Given the description of an element on the screen output the (x, y) to click on. 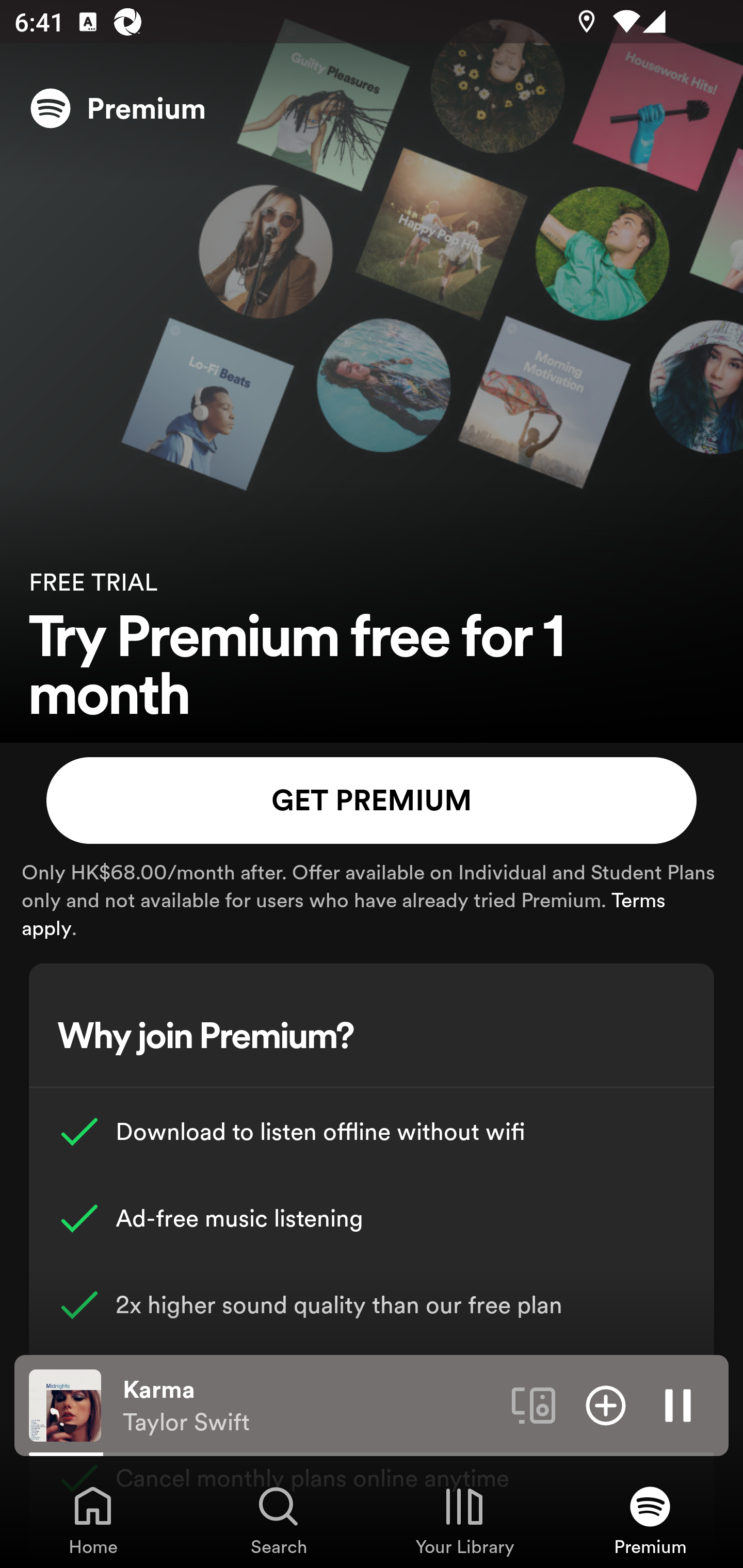
GET PREMIUM (371, 800)
Karma Taylor Swift (309, 1405)
The cover art of the currently playing track (64, 1404)
Connect to a device. Opens the devices menu (533, 1404)
Add item (605, 1404)
Pause (677, 1404)
Home, Tab 1 of 4 Home Home (92, 1519)
Search, Tab 2 of 4 Search Search (278, 1519)
Your Library, Tab 3 of 4 Your Library Your Library (464, 1519)
Premium, Tab 4 of 4 Premium Premium (650, 1519)
